Given the description of an element on the screen output the (x, y) to click on. 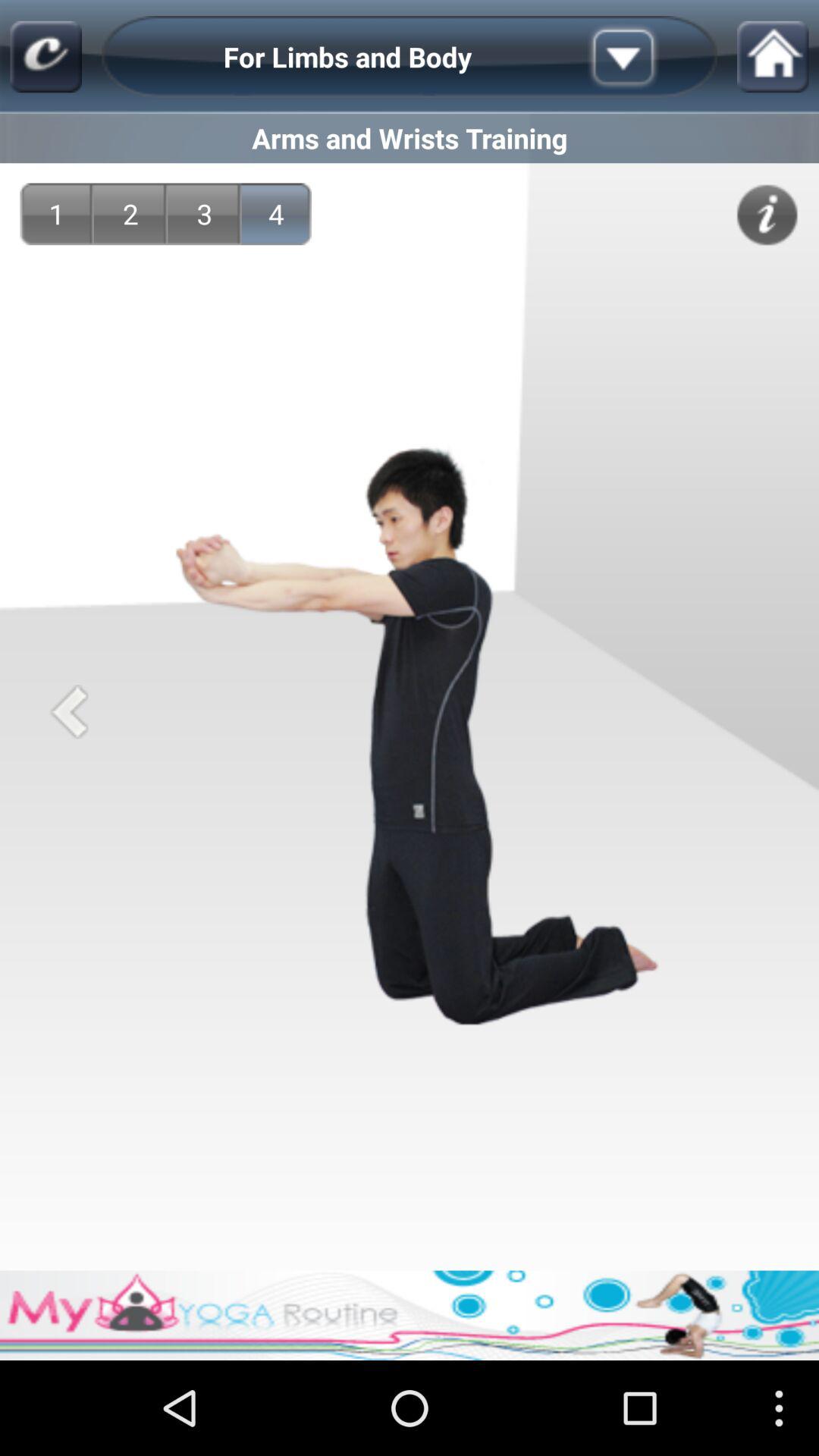
tap the app next to the for limbs and icon (45, 56)
